Given the description of an element on the screen output the (x, y) to click on. 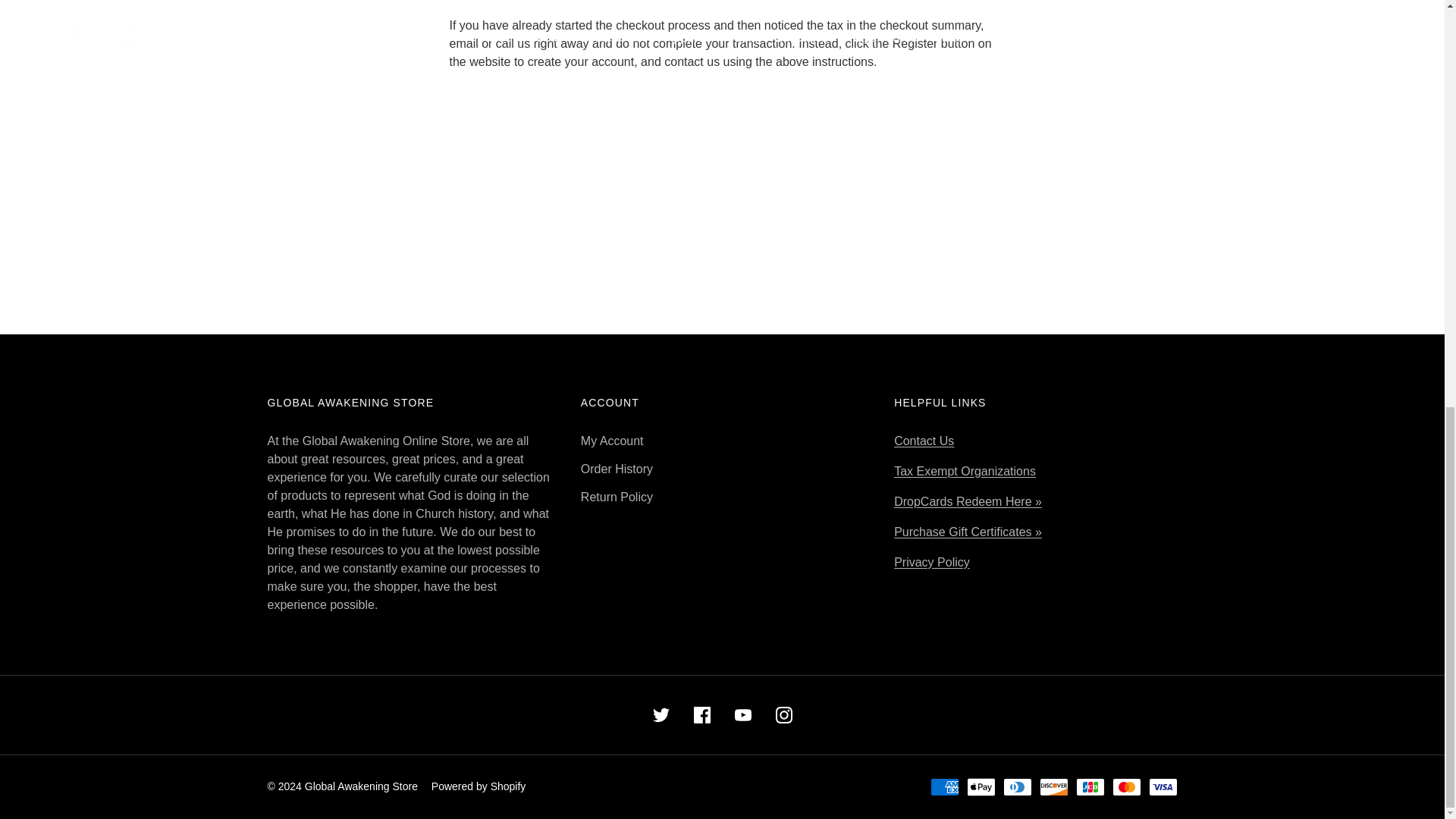
Gift Cards (967, 531)
Privacy Policy (931, 562)
Tax Exempt Organizations (964, 471)
Contact Us (923, 440)
Redeem (967, 501)
